Given the description of an element on the screen output the (x, y) to click on. 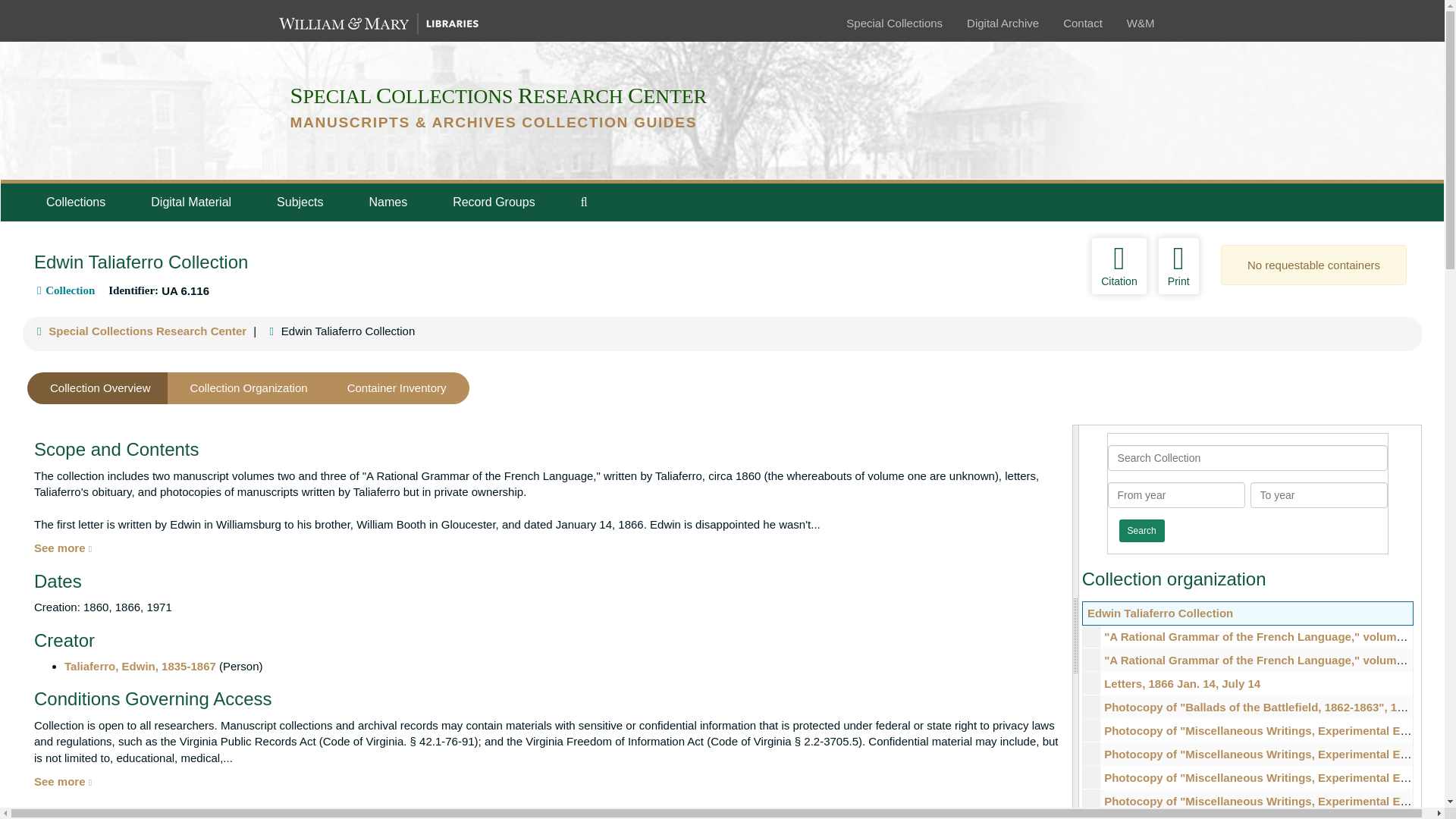
Subjects (299, 202)
Digital Archive (1002, 23)
Special Collections Research Center (147, 330)
SPECIAL COLLECTIONS RESEARCH CENTER (497, 96)
Collections (75, 202)
Print (1178, 265)
Search (1141, 530)
Contact (1082, 23)
Collection Organization (248, 387)
See more (62, 547)
Collection Overview (100, 387)
Special Collections (893, 23)
Digital Material (190, 202)
Search The Archives (583, 202)
